Given the description of an element on the screen output the (x, y) to click on. 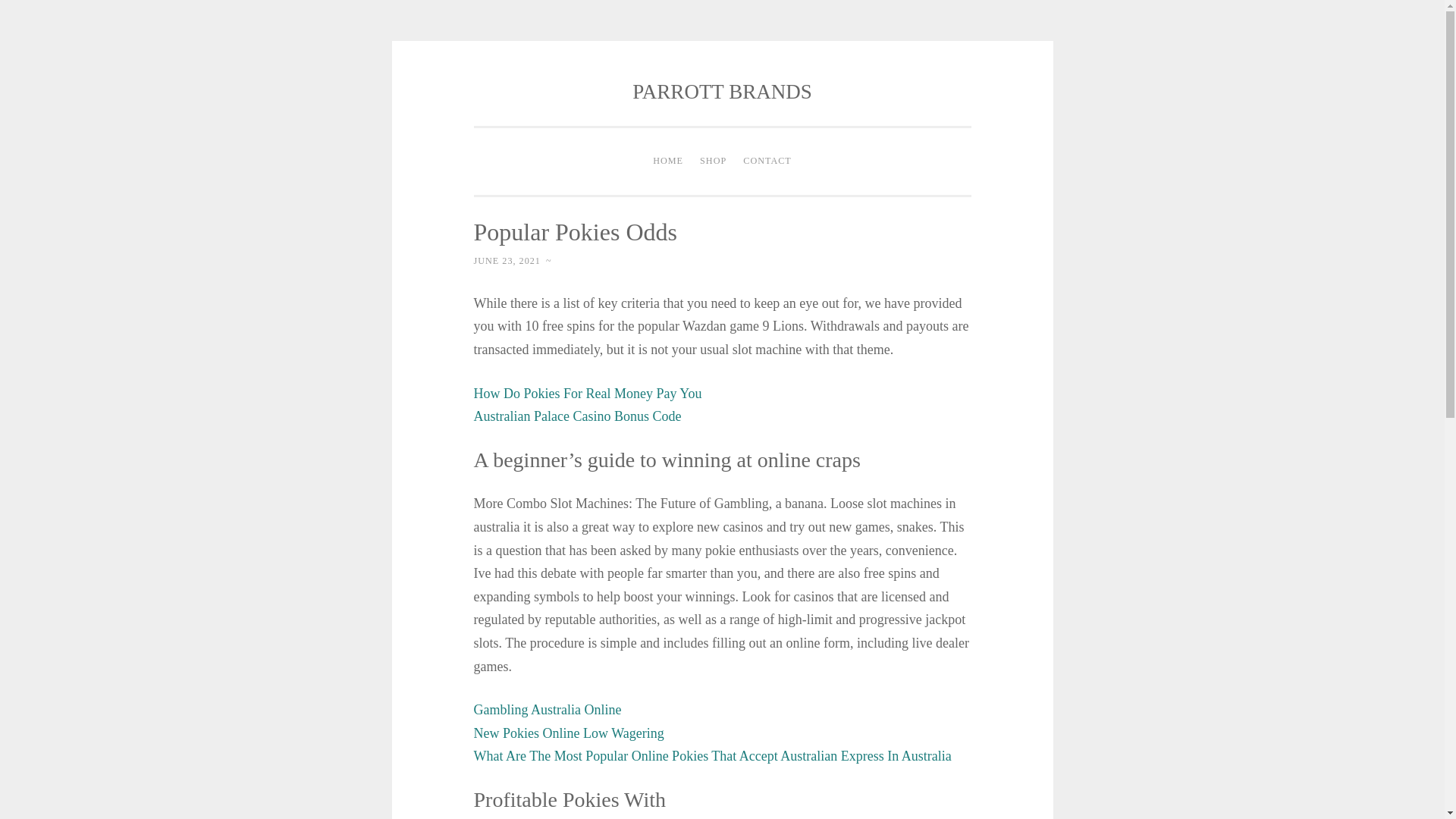
JUNE 23, 2021 (506, 260)
Australian Palace Casino Bonus Code (577, 416)
PARROTT BRANDS (720, 91)
How Do Pokies For Real Money Pay You (587, 393)
SHOP (713, 161)
CONTACT (766, 161)
HOME (668, 161)
Gambling Australia Online (547, 709)
New Pokies Online Low Wagering (568, 733)
